Given the description of an element on the screen output the (x, y) to click on. 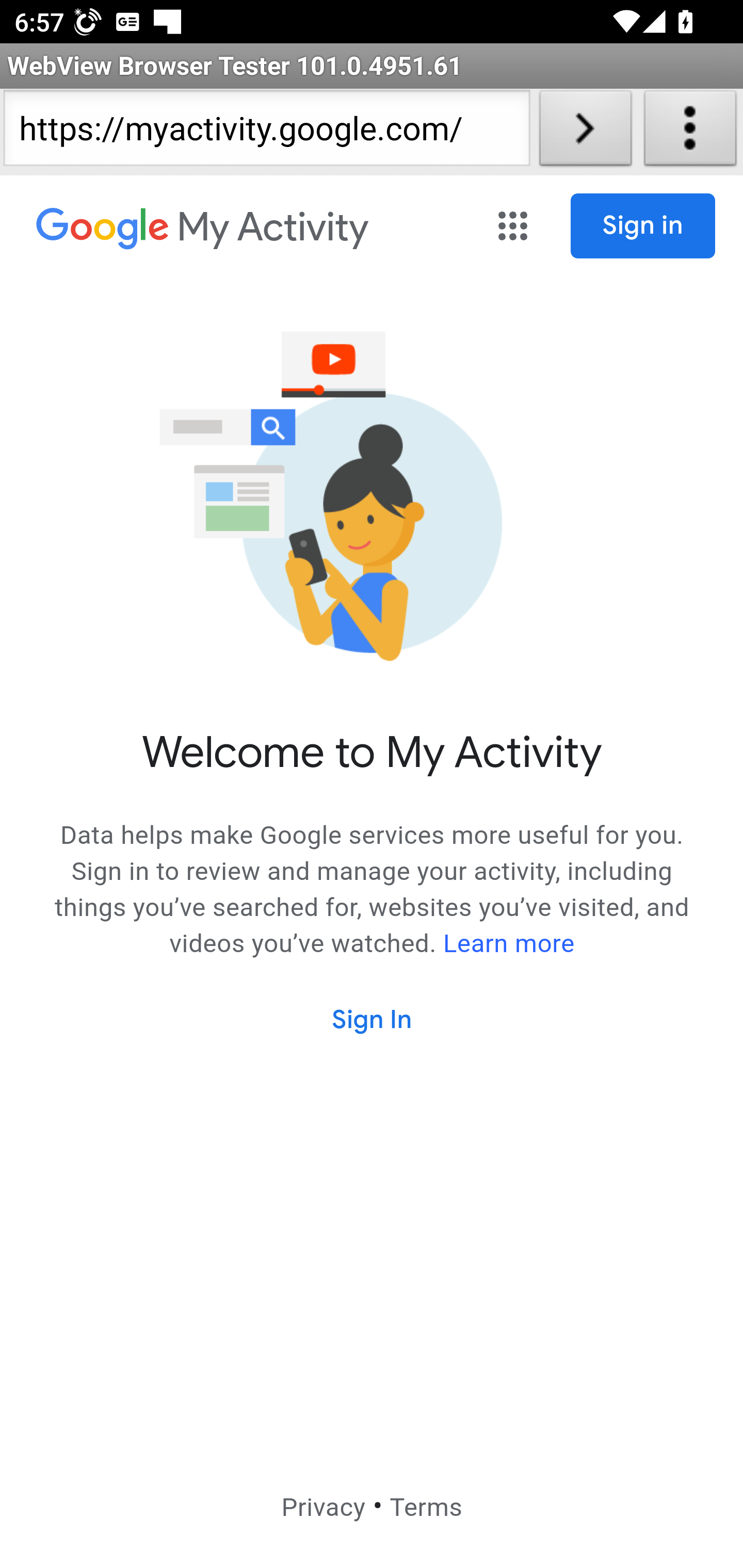
https://myactivity.google.com/ (266, 132)
Load URL (585, 132)
About WebView (690, 132)
Google apps (513, 226)
Sign in (643, 226)
My Activity (203, 229)
Learn more (508, 943)
Sign In (372, 1019)
Privacy (322, 1507)
Terms (425, 1507)
